Given the description of an element on the screen output the (x, y) to click on. 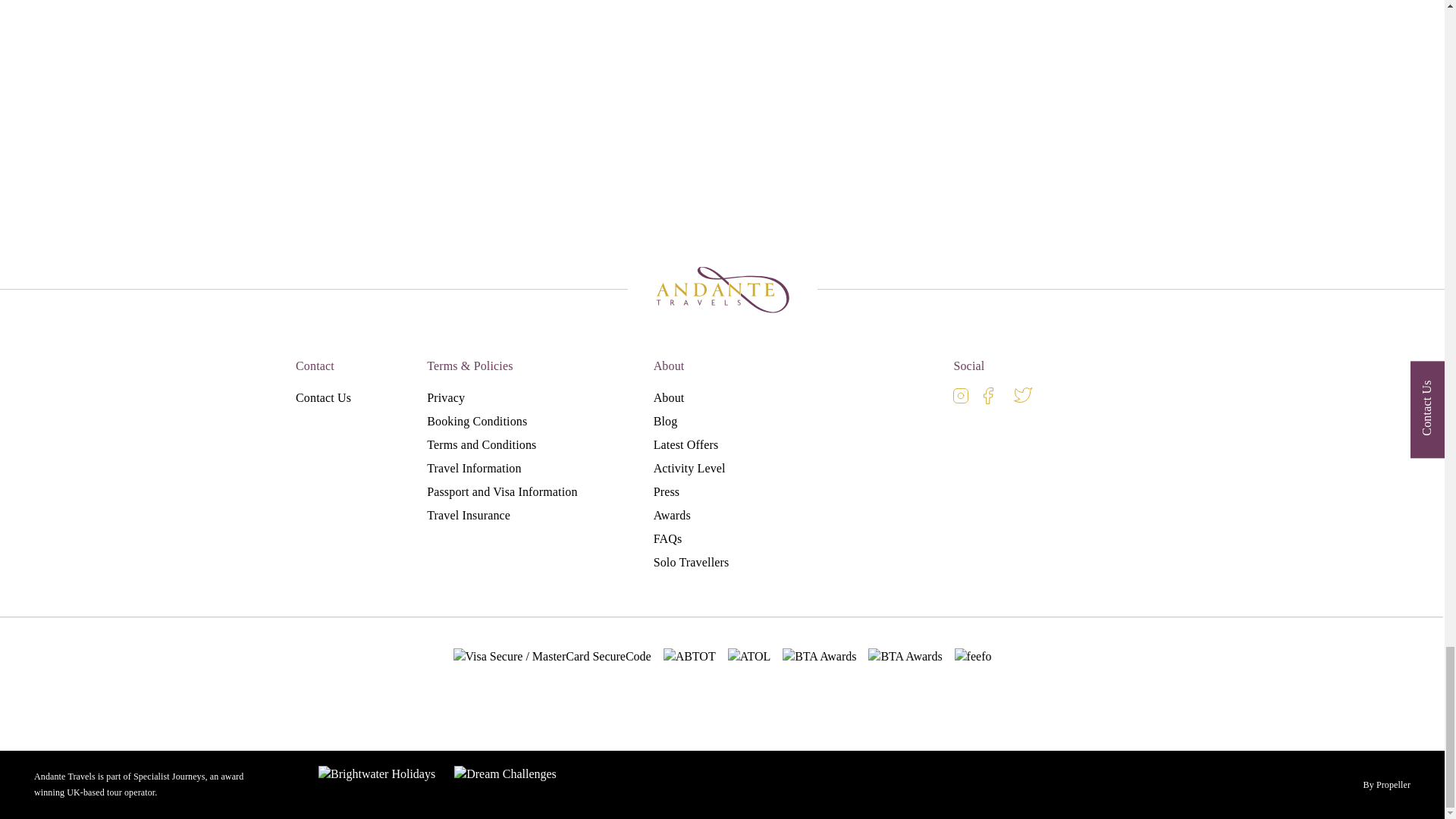
Contact (314, 365)
Booking Conditions (476, 420)
Privacy (445, 397)
Contact Us (322, 397)
Travel Information (473, 468)
Terms and Conditions (480, 444)
